Given the description of an element on the screen output the (x, y) to click on. 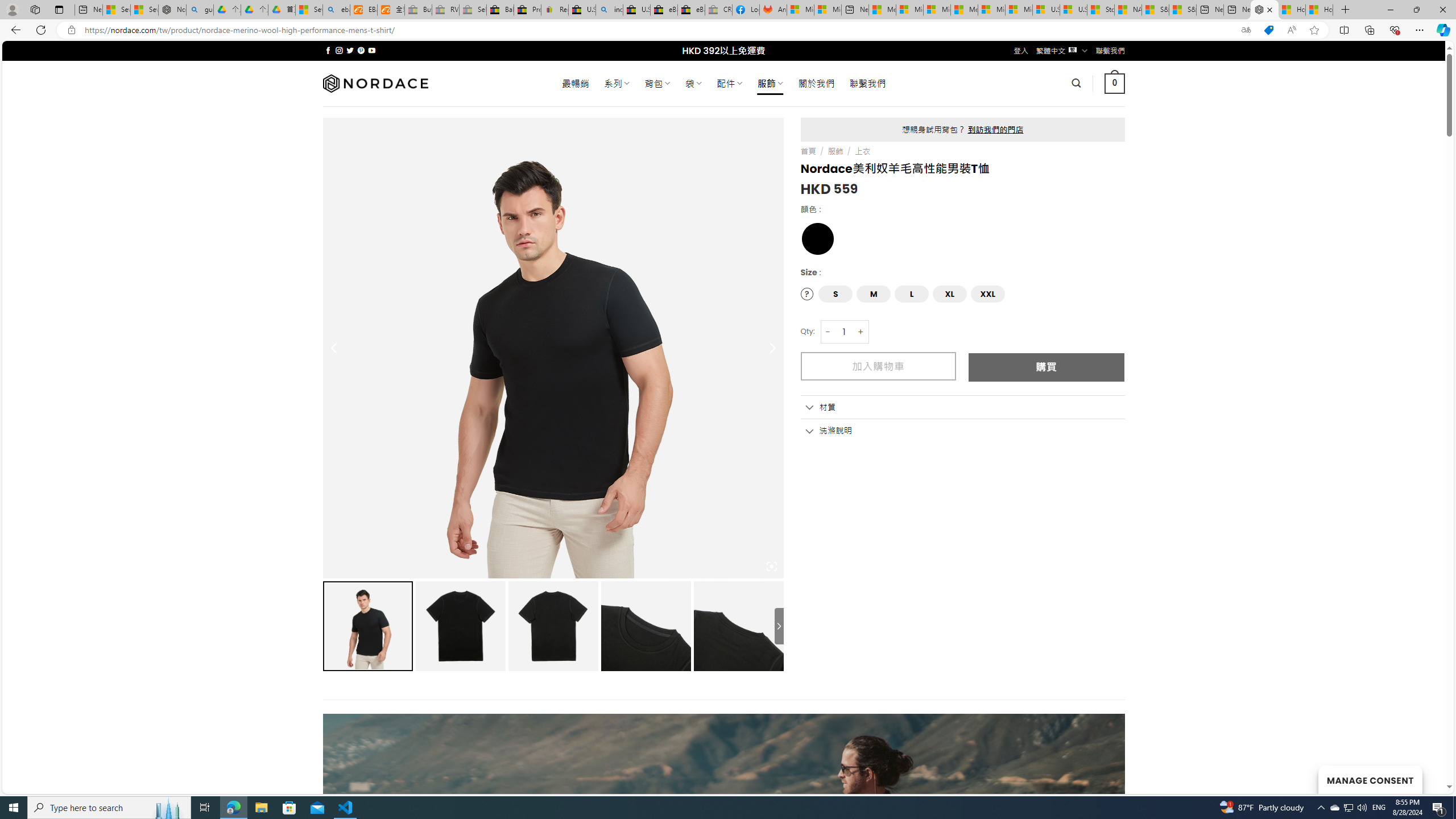
Class: iconic-woothumbs-fullscreen (771, 566)
? (806, 293)
Buy Auto Parts & Accessories | eBay - Sleeping (418, 9)
eBay Inc. Reports Third Quarter 2023 Results (691, 9)
How to Use a Monitor With Your Closed Laptop (1319, 9)
- (827, 331)
